Given the description of an element on the screen output the (x, y) to click on. 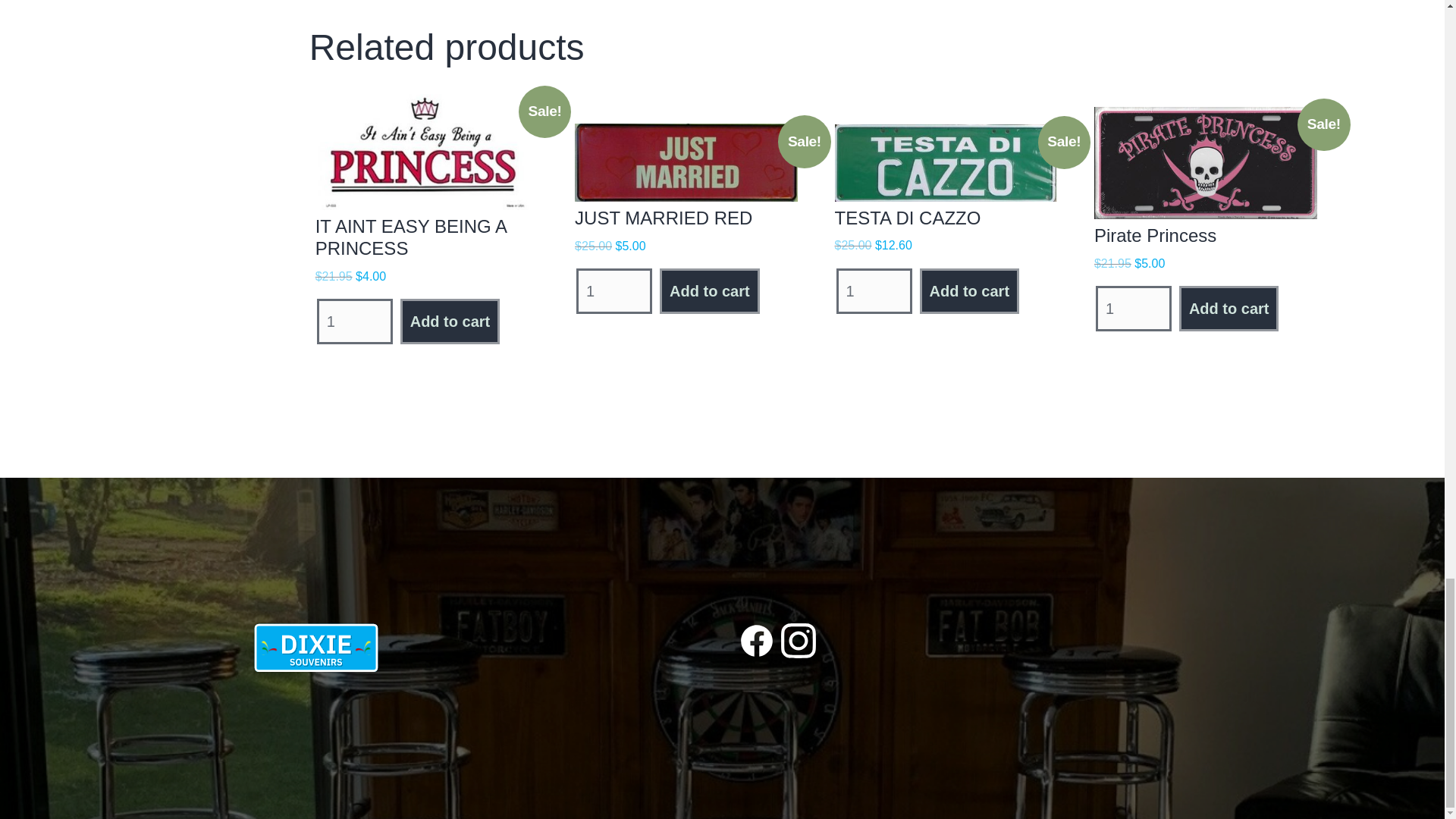
1 (355, 320)
1 (873, 290)
1 (1134, 308)
1 (614, 290)
